Given the description of an element on the screen output the (x, y) to click on. 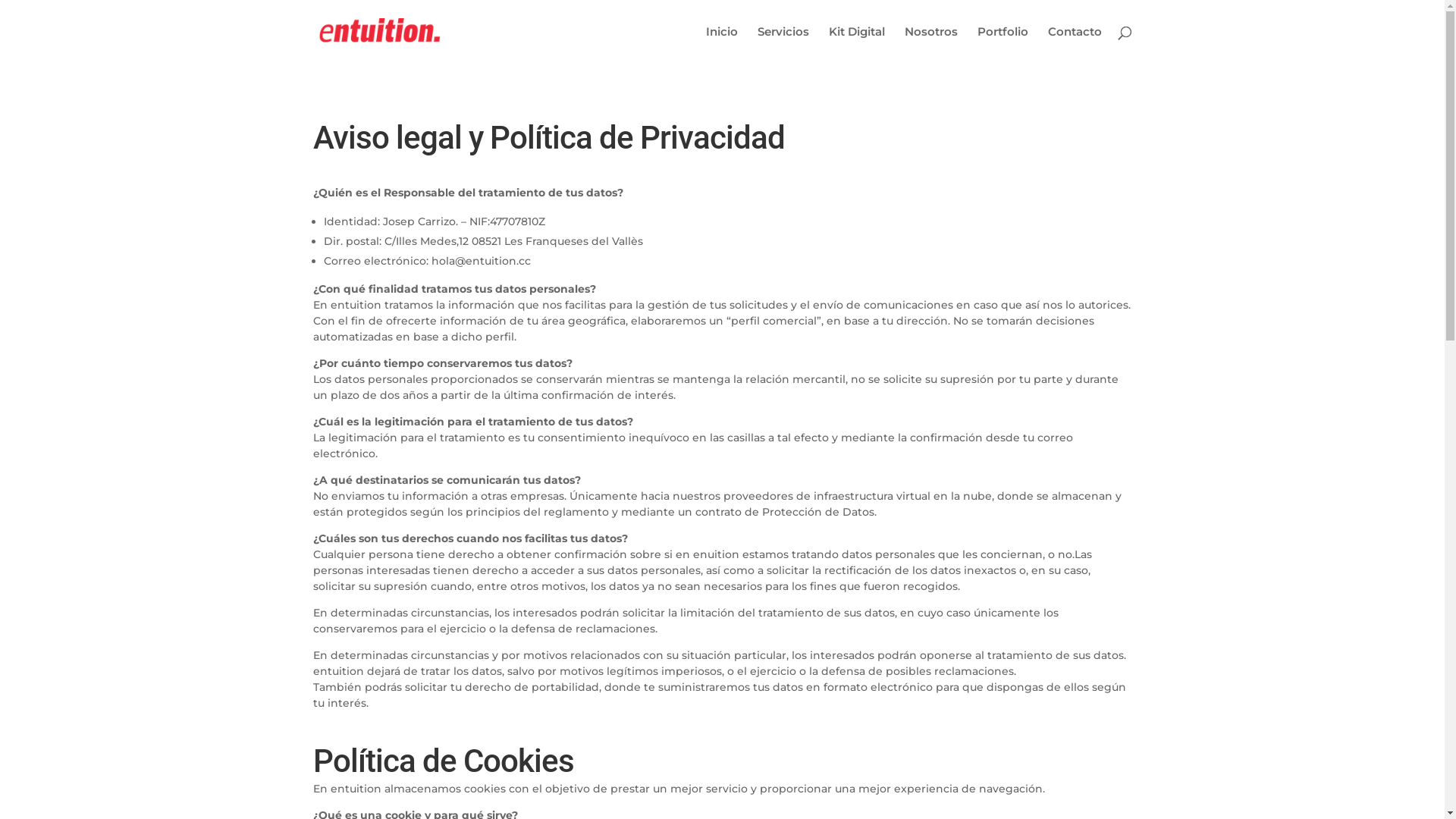
Contacto Element type: text (1074, 44)
Inicio Element type: text (721, 44)
Nosotros Element type: text (930, 44)
Kit Digital Element type: text (856, 44)
Portfolio Element type: text (1001, 44)
Servicios Element type: text (782, 44)
